Given the description of an element on the screen output the (x, y) to click on. 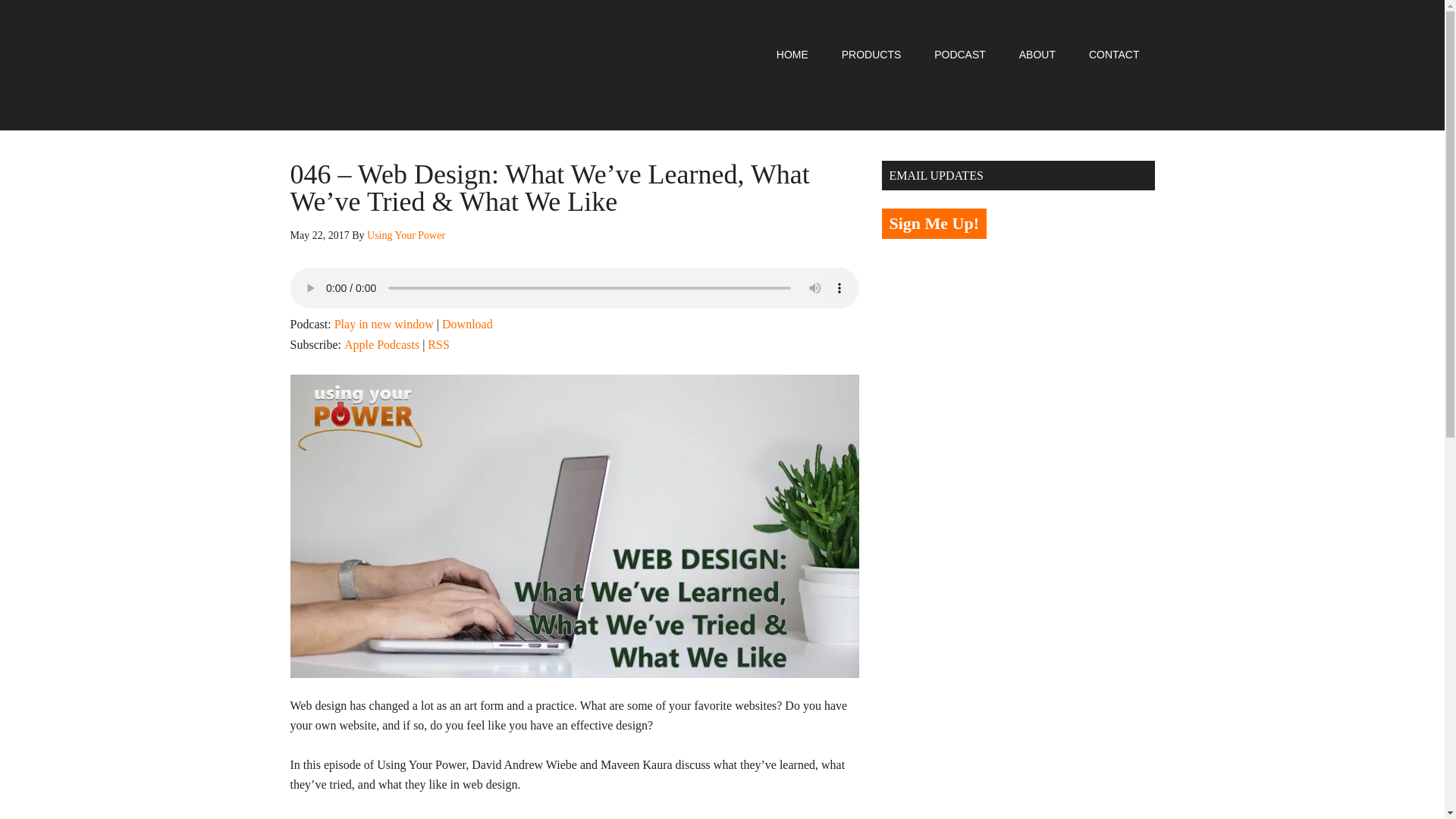
RSS (438, 344)
Play in new window (383, 323)
Subscribe via RSS (438, 344)
Apple Podcasts (381, 344)
Download (467, 323)
PRODUCTS (872, 54)
HOME (792, 54)
Using Your Power (405, 235)
Subscribe on Apple Podcasts (381, 344)
Sign Me Up! (933, 223)
Discoveryourlifetoday.com (468, 818)
Download (467, 323)
Play in new window (383, 323)
CONTACT (1114, 54)
PODCAST (959, 54)
